Given the description of an element on the screen output the (x, y) to click on. 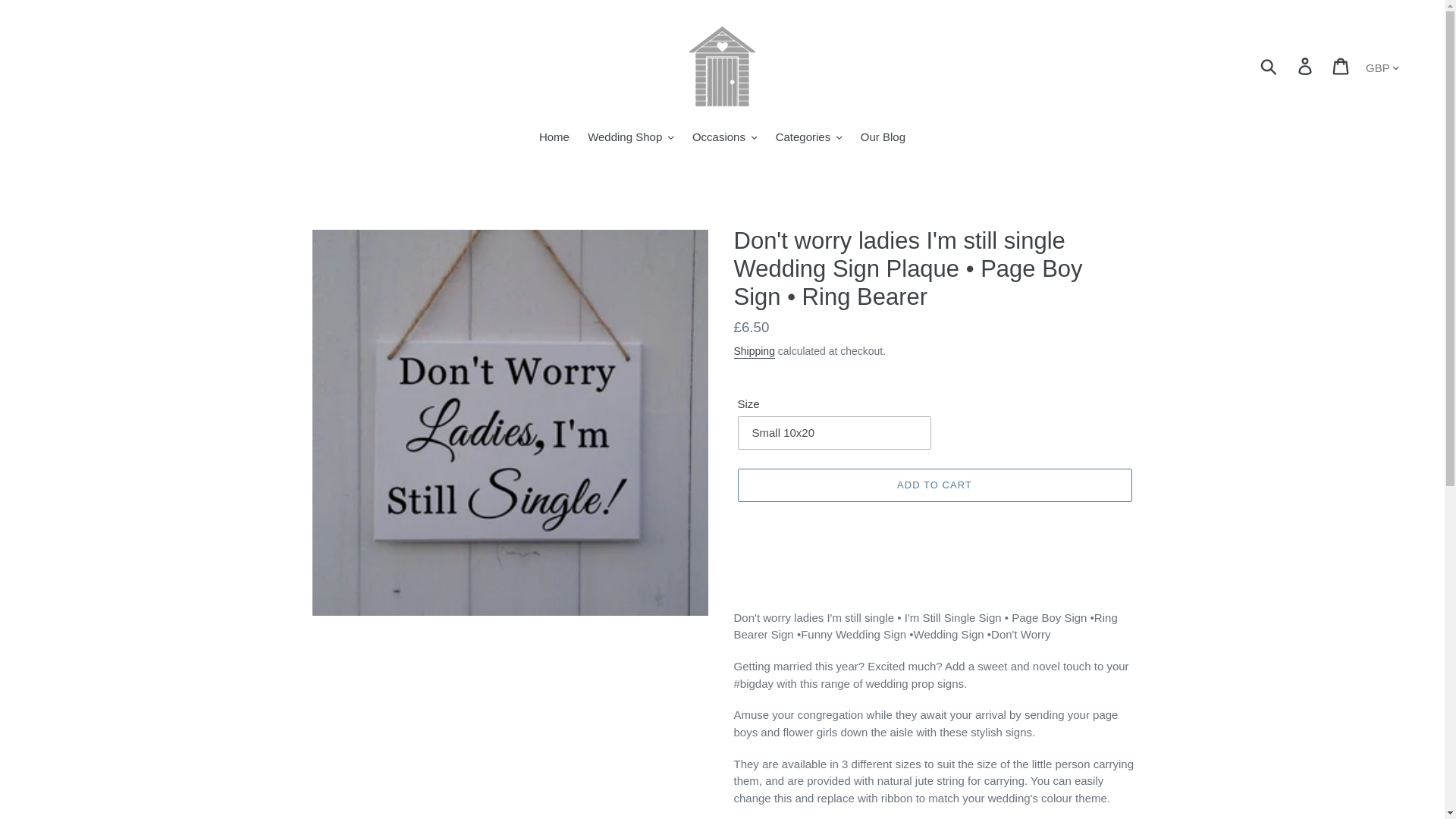
Cart (1341, 66)
Submit (1269, 66)
Log in (1305, 66)
